Given the description of an element on the screen output the (x, y) to click on. 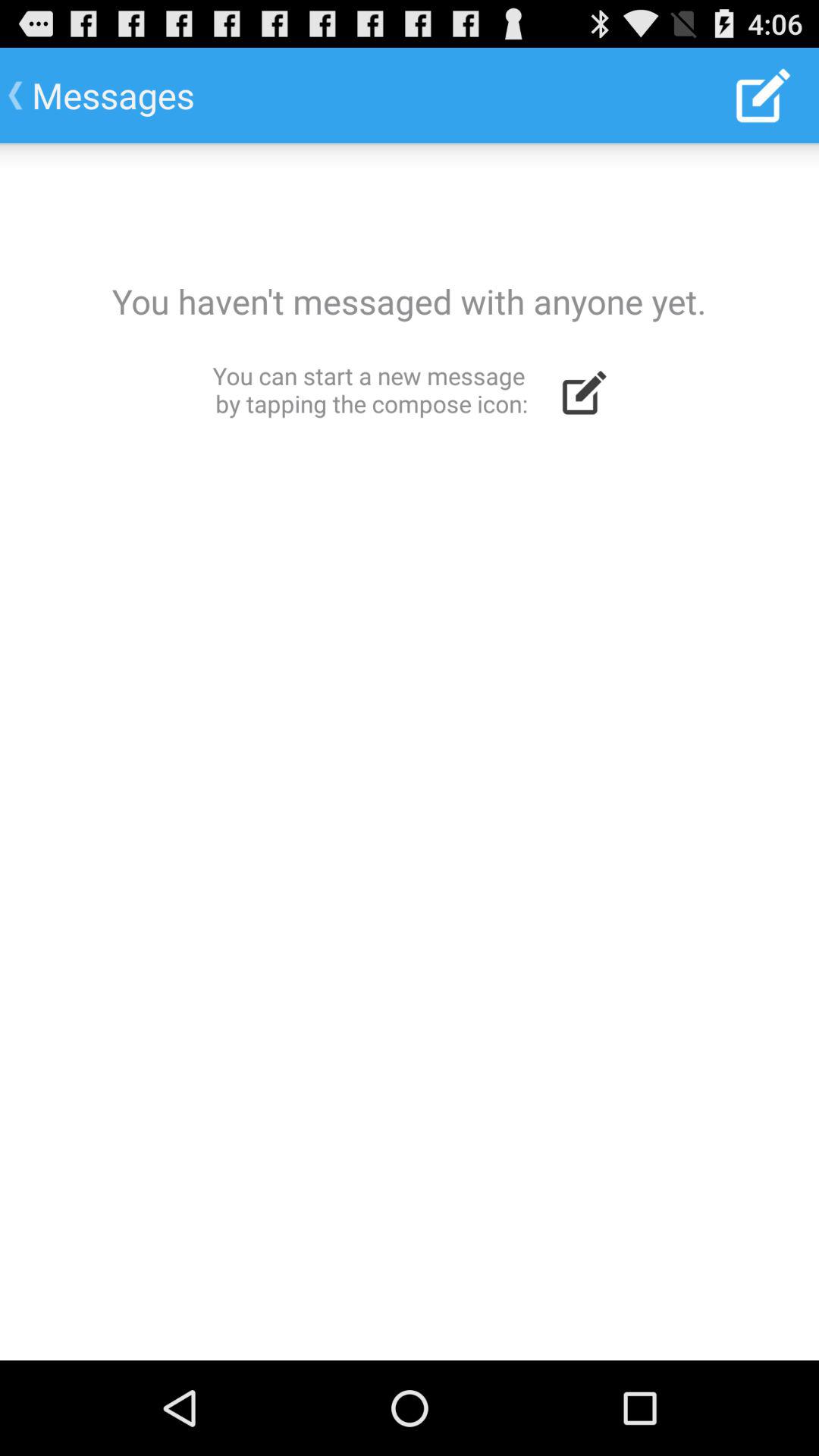
blank message screen (409, 751)
